Given the description of an element on the screen output the (x, y) to click on. 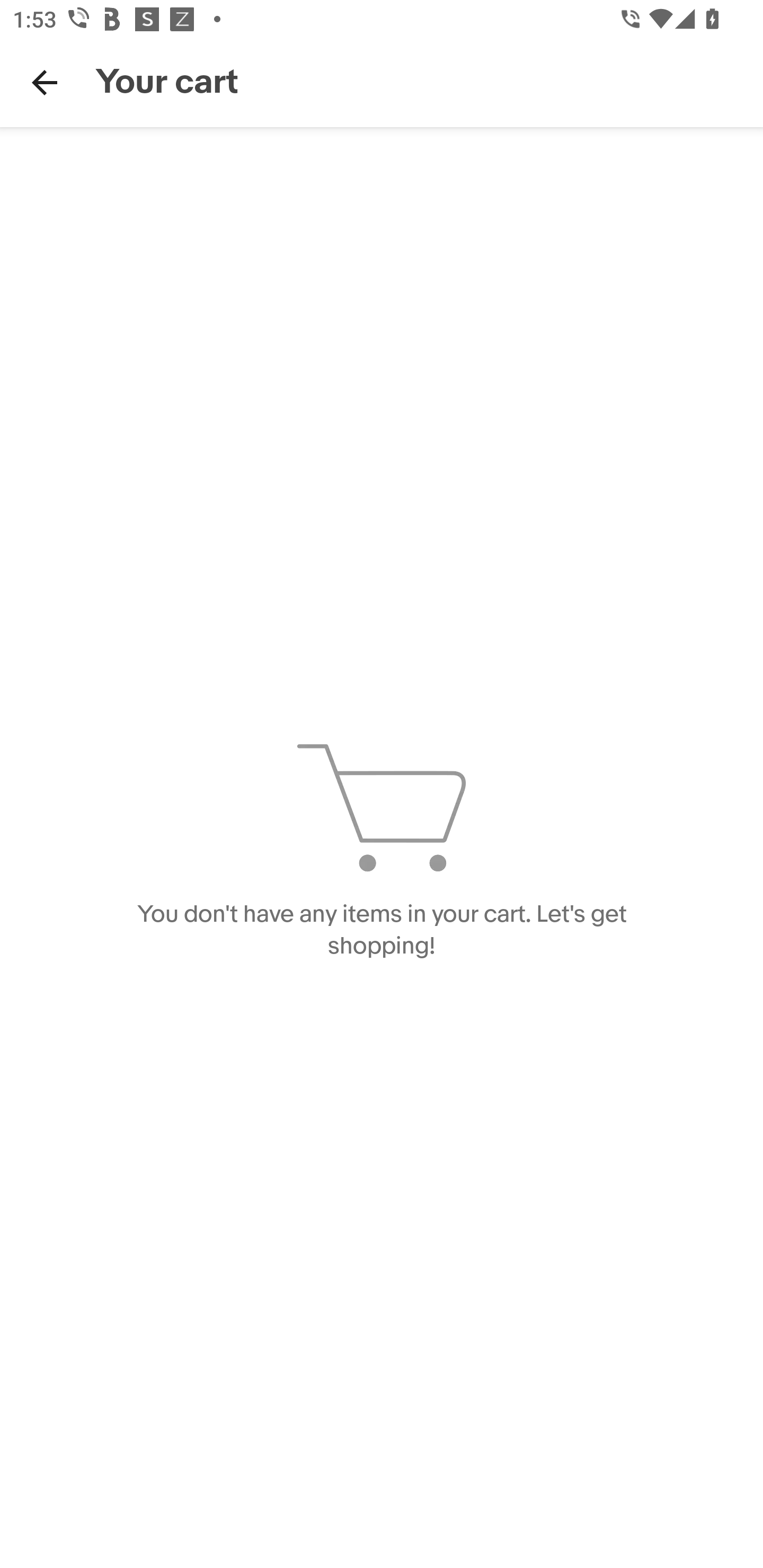
Navigate up (44, 82)
